Given the description of an element on the screen output the (x, y) to click on. 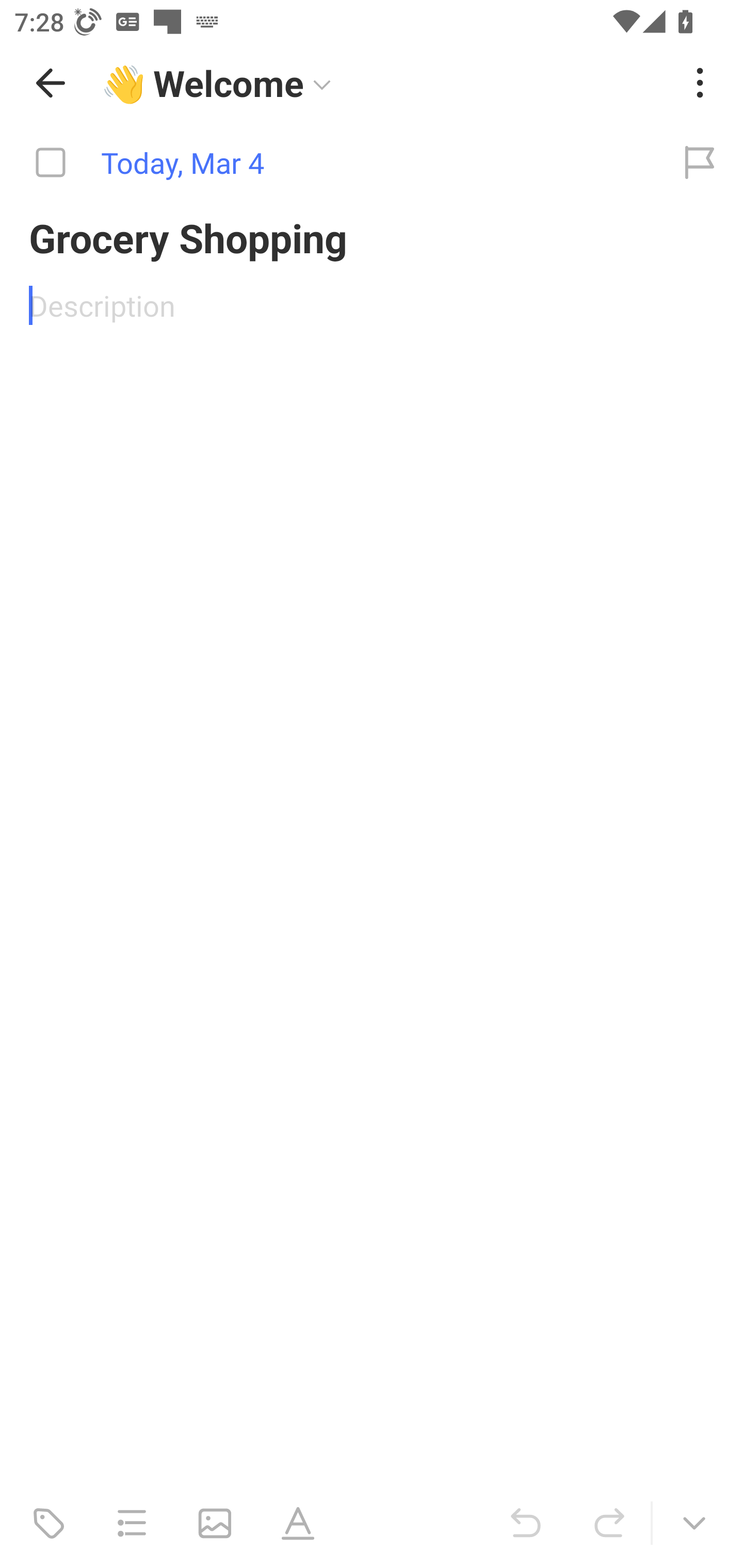
👋 Welcome (384, 82)
Today, Mar 4  (328, 163)
Grocery Shopping (371, 237)
Description (371, 304)
